Given the description of an element on the screen output the (x, y) to click on. 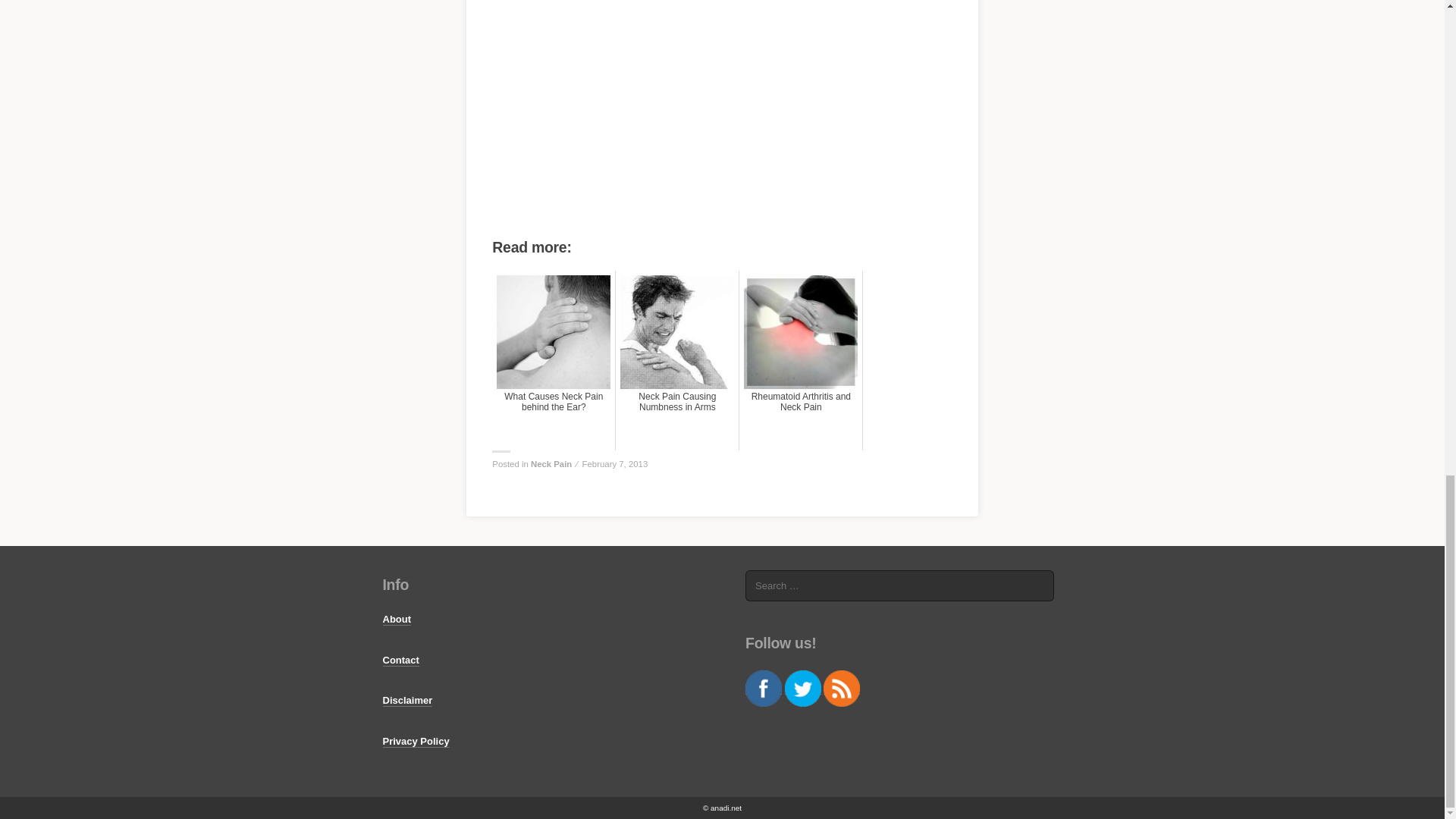
Neck Pain (551, 463)
Follow us on Facebook (763, 688)
Disclaimer (406, 700)
Search (1038, 586)
About (395, 619)
Subscribe to our RSS (842, 688)
Advertisement (721, 126)
Follow us on Twitter (802, 688)
Contact (400, 660)
Privacy Policy (414, 741)
